Given the description of an element on the screen output the (x, y) to click on. 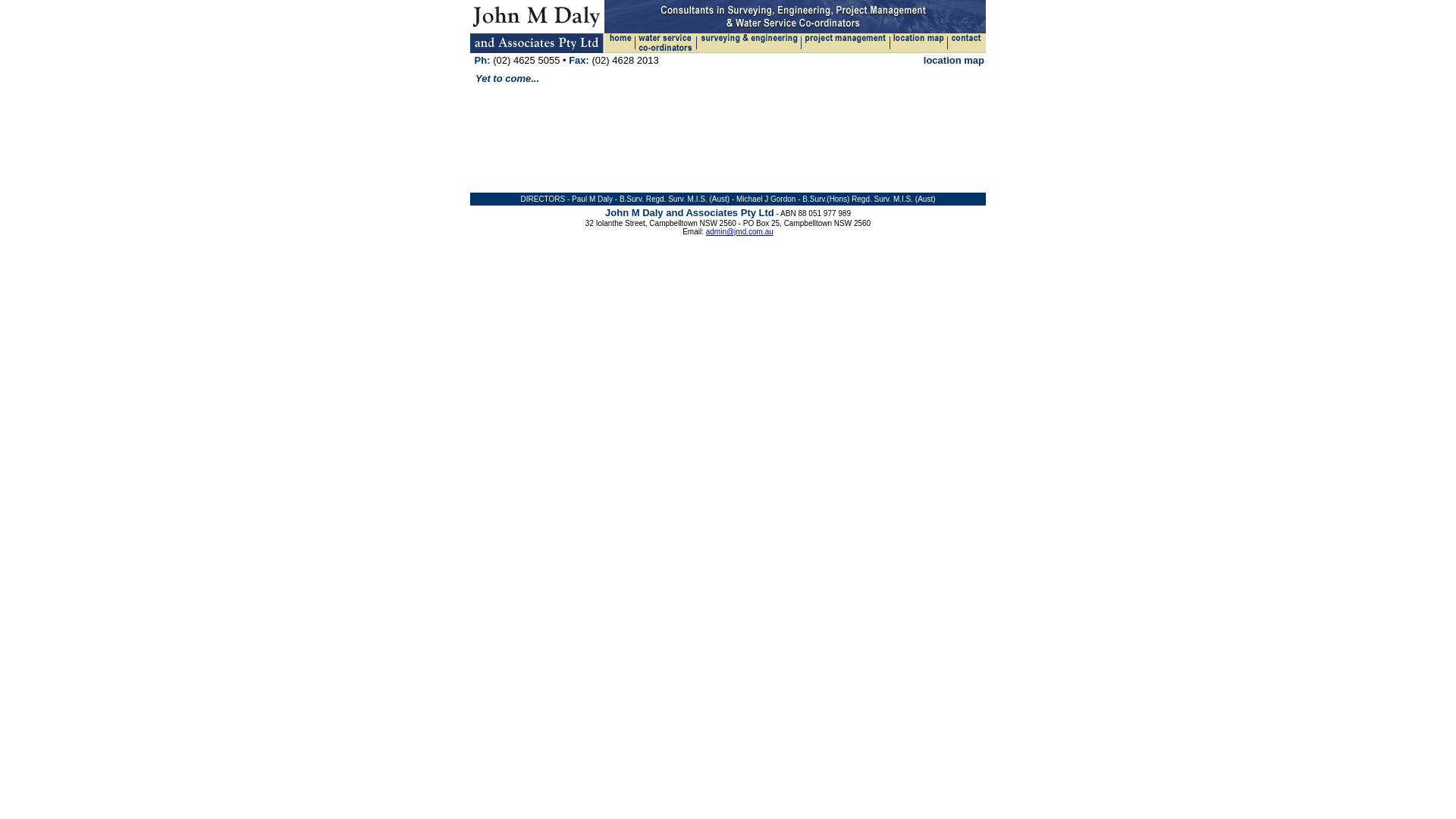
admin@jmd.com.au Element type: text (739, 231)
